Given the description of an element on the screen output the (x, y) to click on. 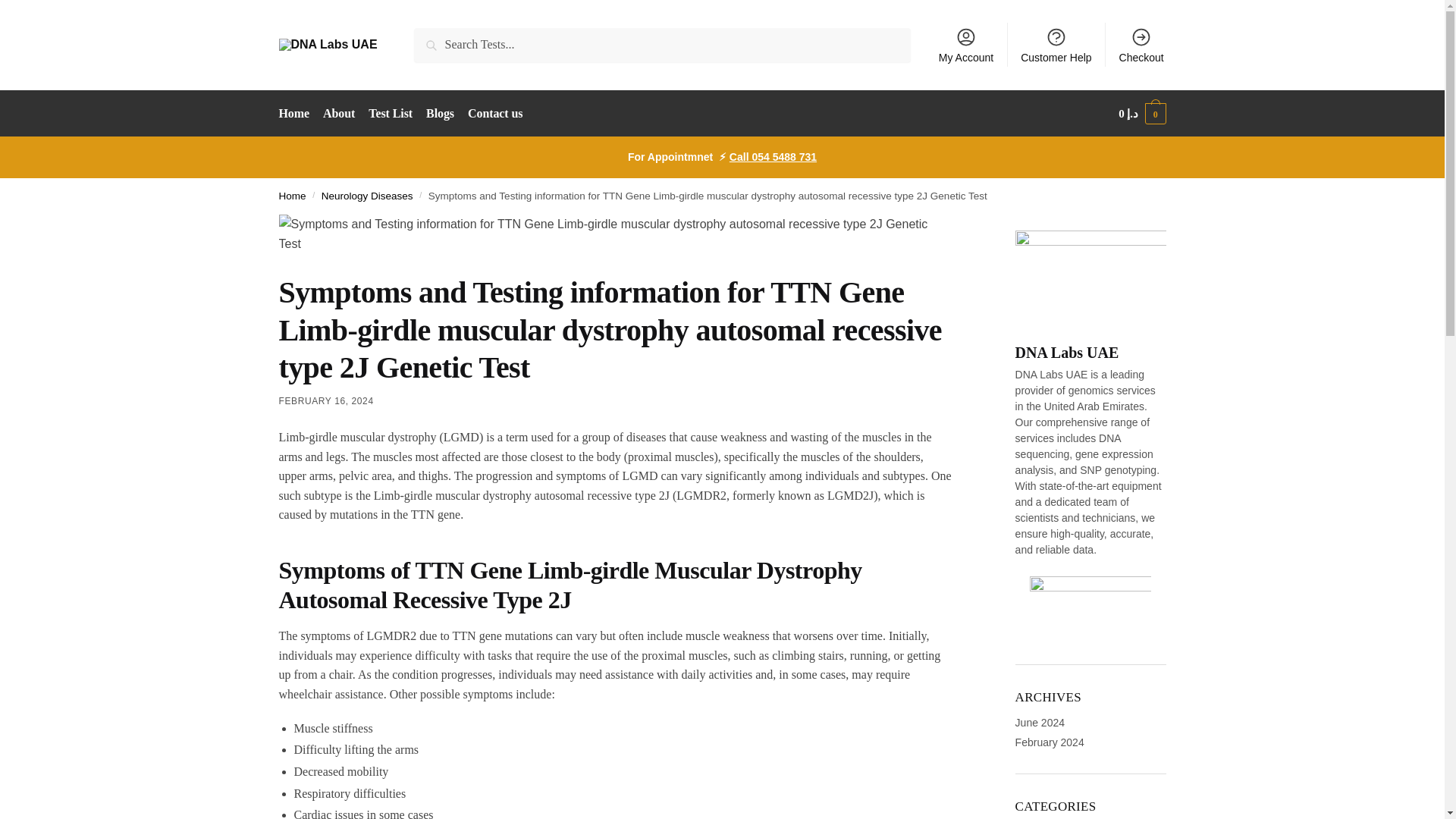
View your shopping cart (1142, 113)
Checkout (1141, 44)
February 2024 (1049, 742)
Blogs (439, 113)
Test List (390, 113)
Call 054 5488 731 (772, 156)
About (338, 113)
Customer Help (1055, 44)
Neurology Diseases (367, 195)
My Account (966, 44)
Search (435, 38)
June 2024 (1039, 722)
Contact us (495, 113)
Home (292, 195)
